Given the description of an element on the screen output the (x, y) to click on. 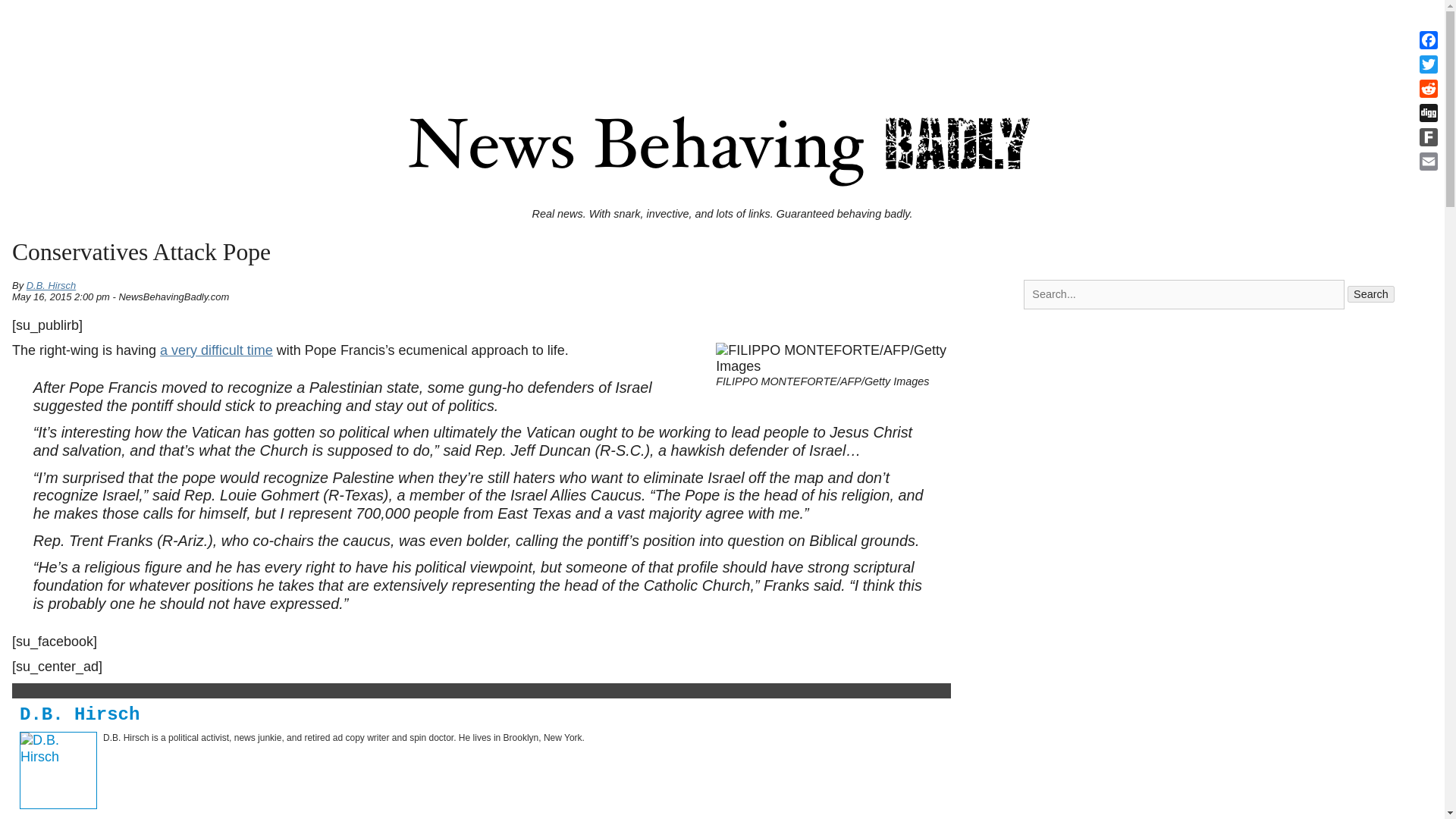
Fark (1428, 137)
D.B. Hirsch (79, 714)
Digg (1428, 112)
D.B. Hirsch (51, 284)
Twitter (1428, 64)
Facebook (1428, 39)
Fark (1428, 137)
Search (1371, 293)
Email (1428, 161)
a very difficult time (216, 350)
Email (1428, 161)
Twitter (1428, 64)
Digg (1428, 112)
Advertisement (721, 39)
Reddit (1428, 88)
